Given the description of an element on the screen output the (x, y) to click on. 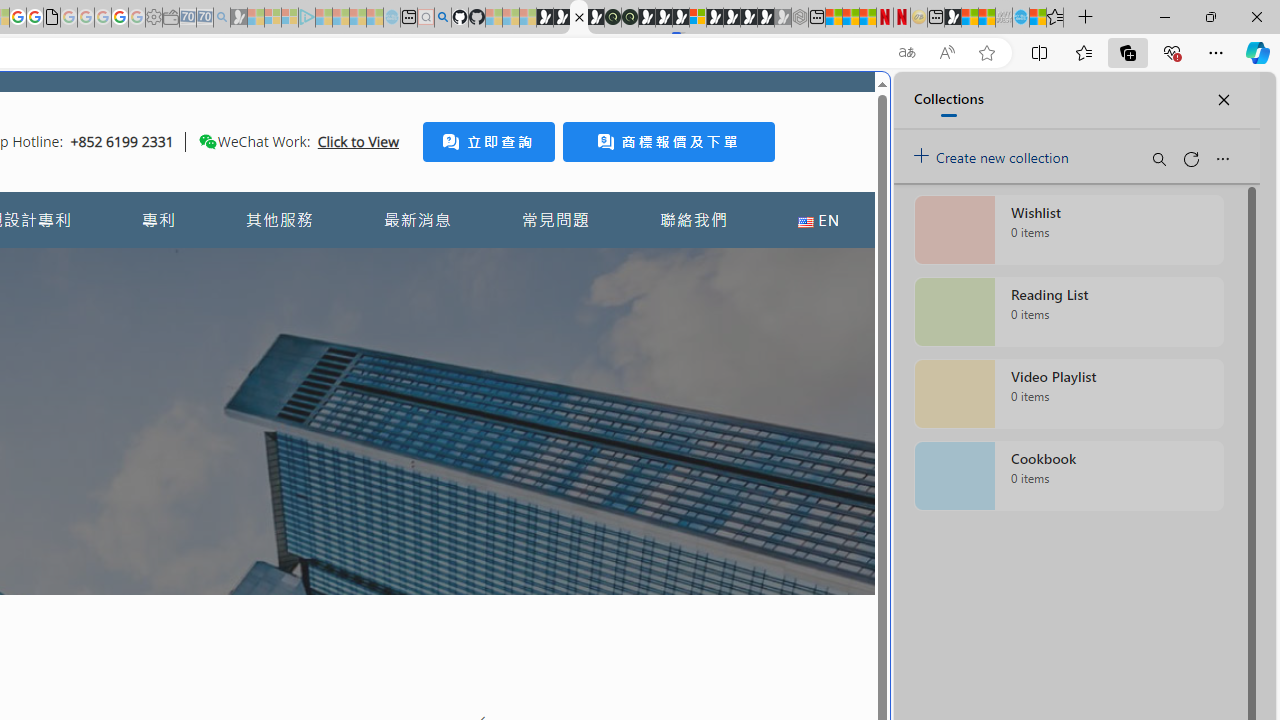
Play Cave FRVR in your browser | Games from Microsoft Start (343, 426)
Frequently visited (418, 265)
Show translate options (906, 53)
